Given the description of an element on the screen output the (x, y) to click on. 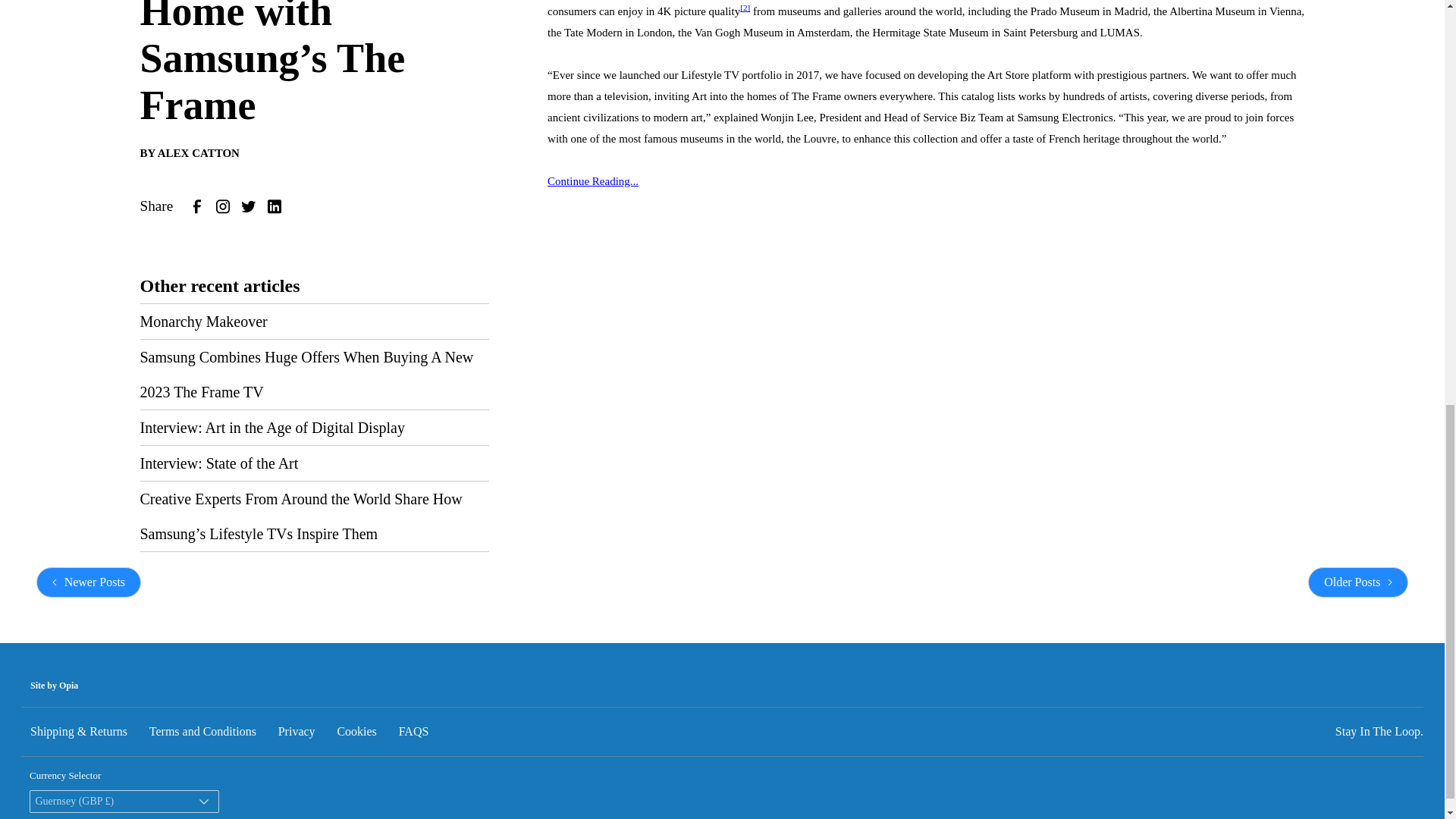
Site by Opia (54, 685)
FAQS (414, 730)
Continue Reading... (593, 181)
Newer Posts (88, 582)
Continue Reading... (593, 181)
Older Posts (1357, 582)
Monarchy Makeover (202, 321)
Privacy (296, 730)
Cookies (356, 730)
Interview: Art in the Age of Digital Display (271, 427)
Interview: State of the Art (218, 463)
Terms and Conditions (201, 730)
